Given the description of an element on the screen output the (x, y) to click on. 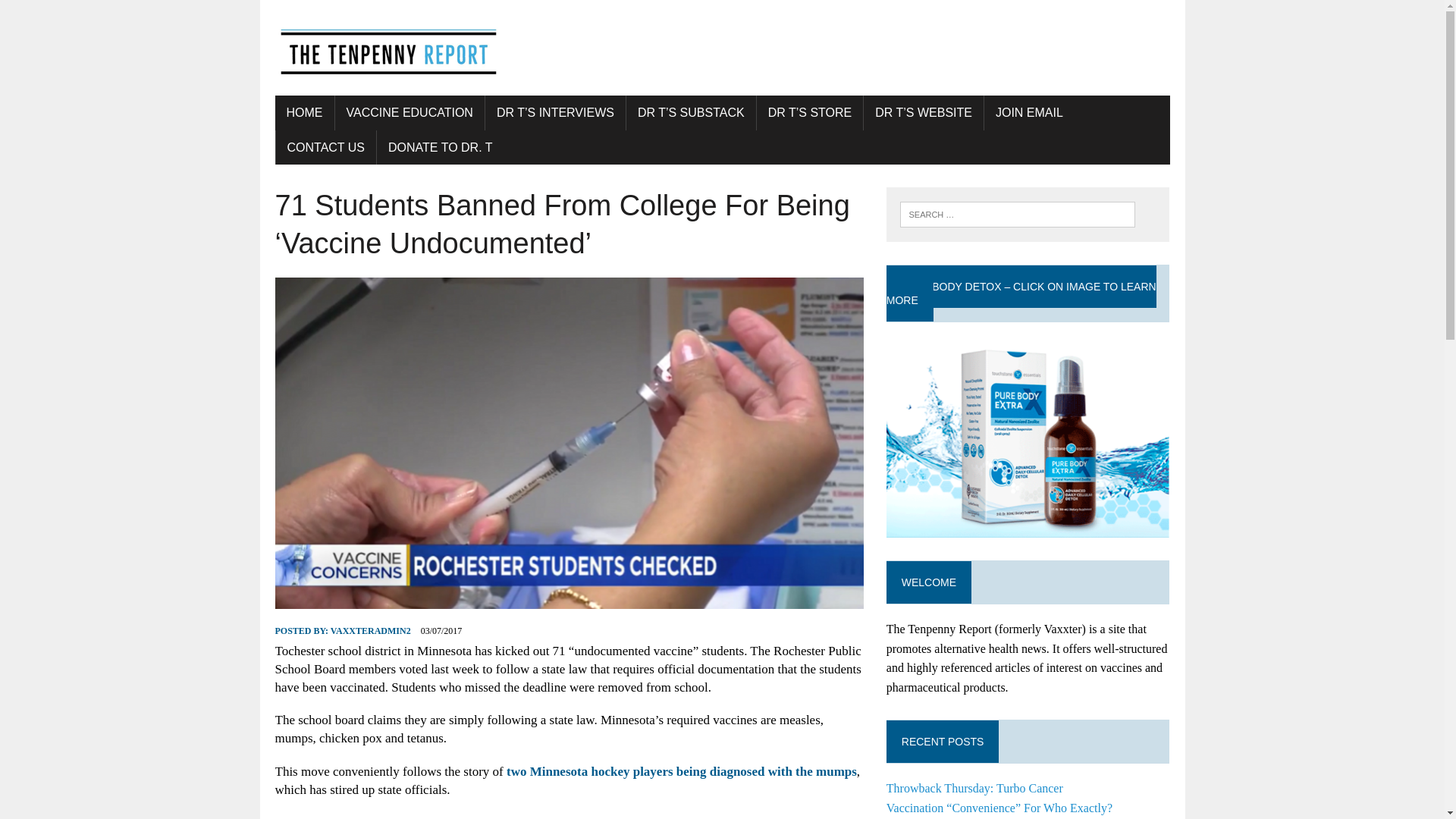
VAXXTERADMIN2 (370, 630)
HOME (304, 112)
JOIN EMAIL (1029, 112)
DONATE TO DR. T (440, 147)
CONTACT US (326, 147)
Search (75, 14)
Throwback Thursday: Turbo Cancer (974, 788)
two Minnesota hockey players being diagnosed with the mumps (681, 771)
Detoxify Safely - Learn More - Click On Image (1028, 437)
VACCINE EDUCATION (409, 112)
